Given the description of an element on the screen output the (x, y) to click on. 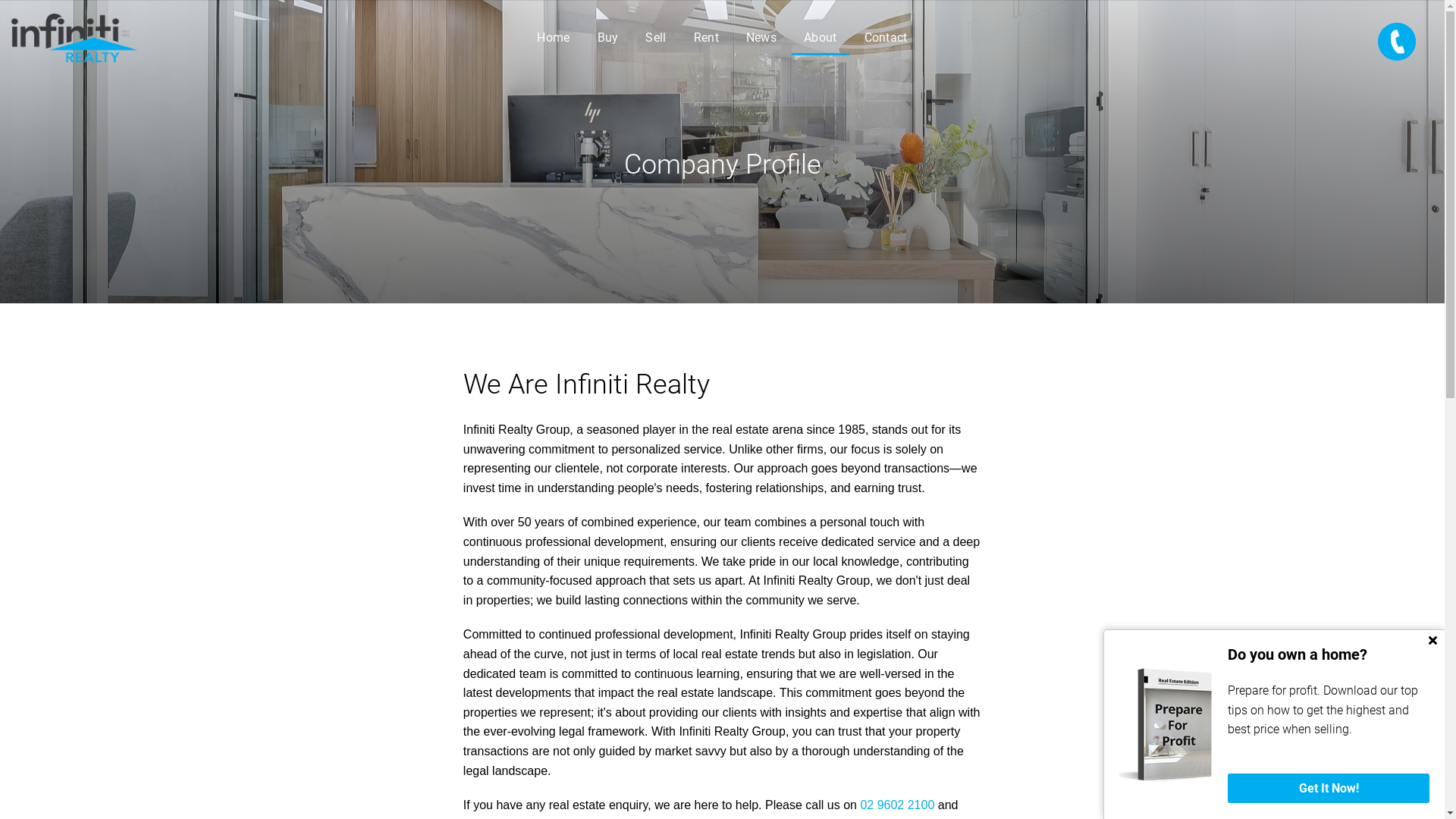
02 9602 2100 Element type: text (896, 804)
Sell Element type: text (655, 37)
Get It Now! Element type: text (1328, 788)
Home Element type: text (552, 37)
Buy Element type: text (607, 37)
News Element type: text (761, 37)
Rent Element type: text (705, 37)
About Element type: text (820, 37)
Contact Element type: text (885, 37)
